Given the description of an element on the screen output the (x, y) to click on. 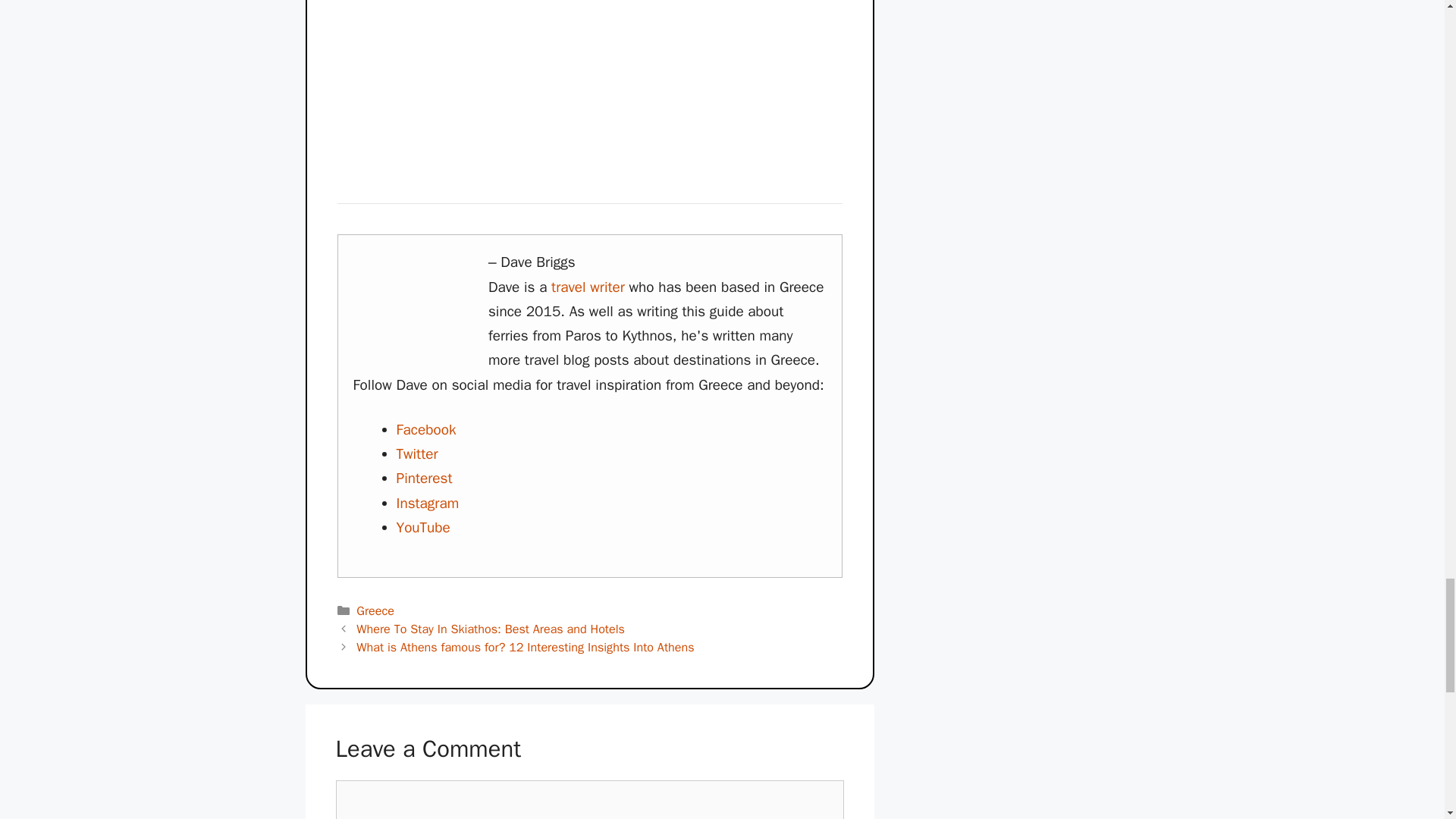
Facebook (425, 429)
Where To Stay In Skiathos: Best Areas and Hotels (490, 628)
Pinterest (423, 478)
YouTube (422, 527)
Greece (375, 610)
travel writer (587, 287)
Twitter (417, 454)
Instagram (427, 503)
